Given the description of an element on the screen output the (x, y) to click on. 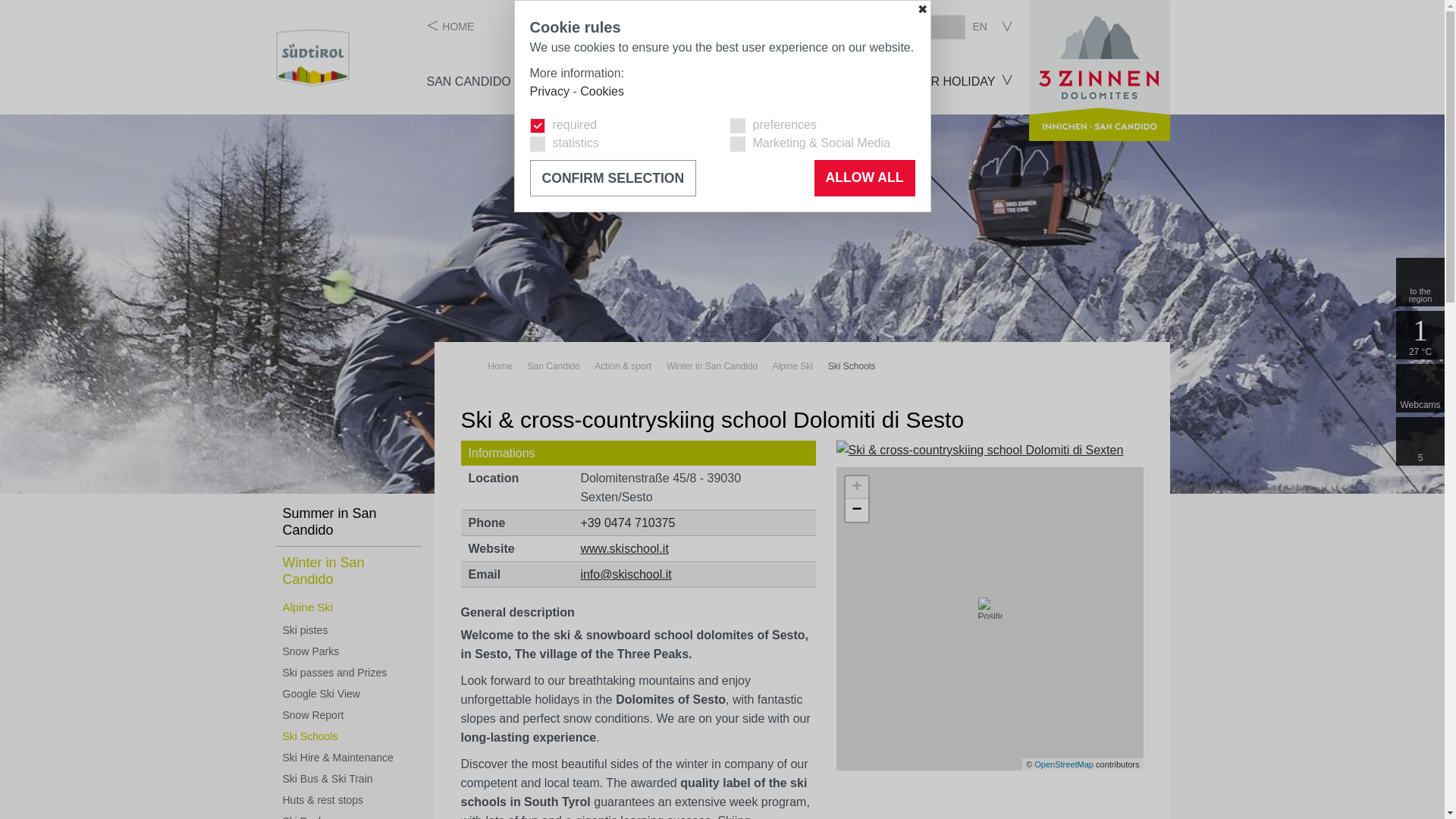
Zoom out (856, 509)
HOME (450, 26)
Position (990, 608)
Zoom in (856, 486)
SAN CANDIDO (468, 81)
